Given the description of an element on the screen output the (x, y) to click on. 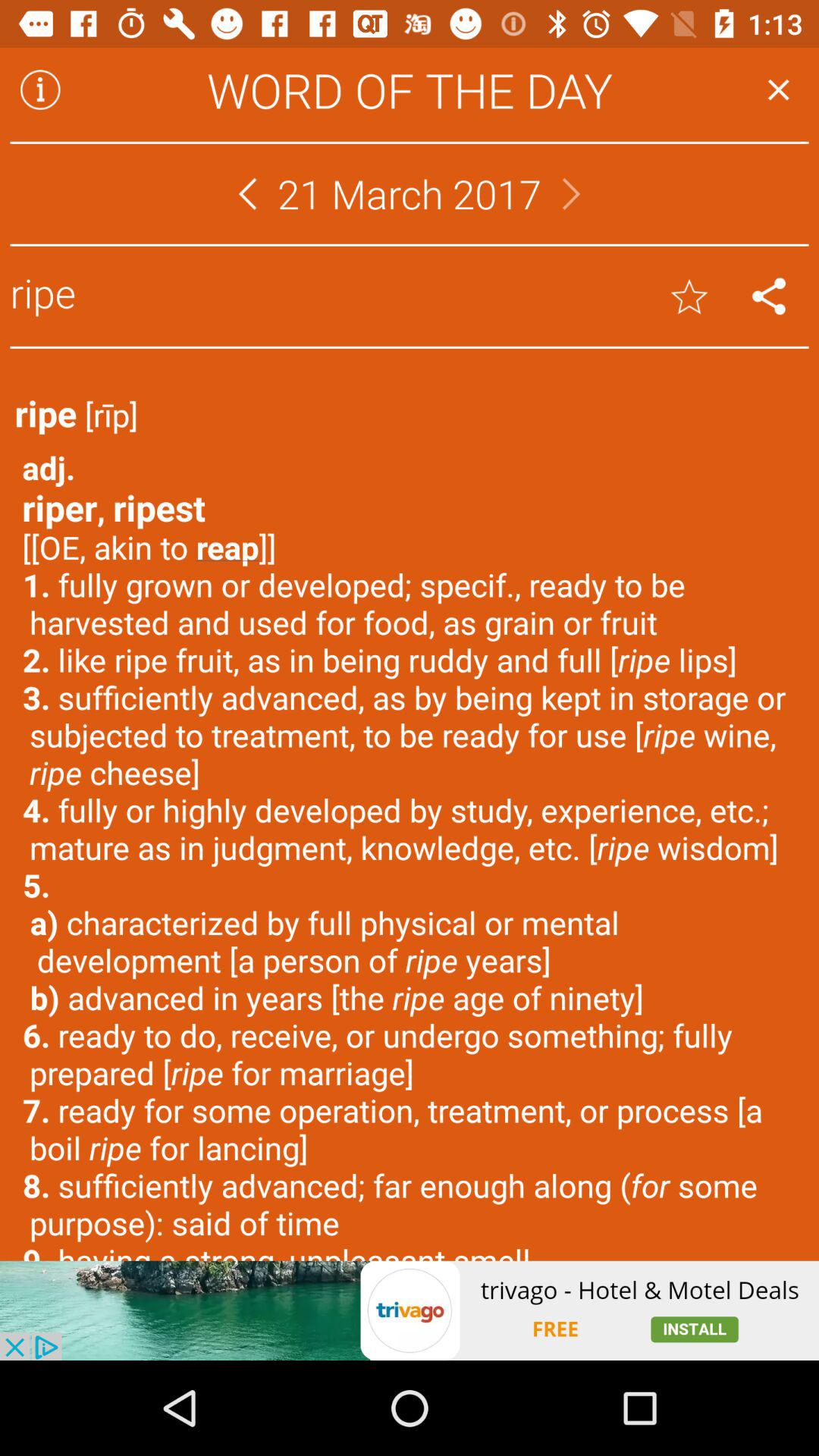
this is to share the article (768, 296)
